Given the description of an element on the screen output the (x, y) to click on. 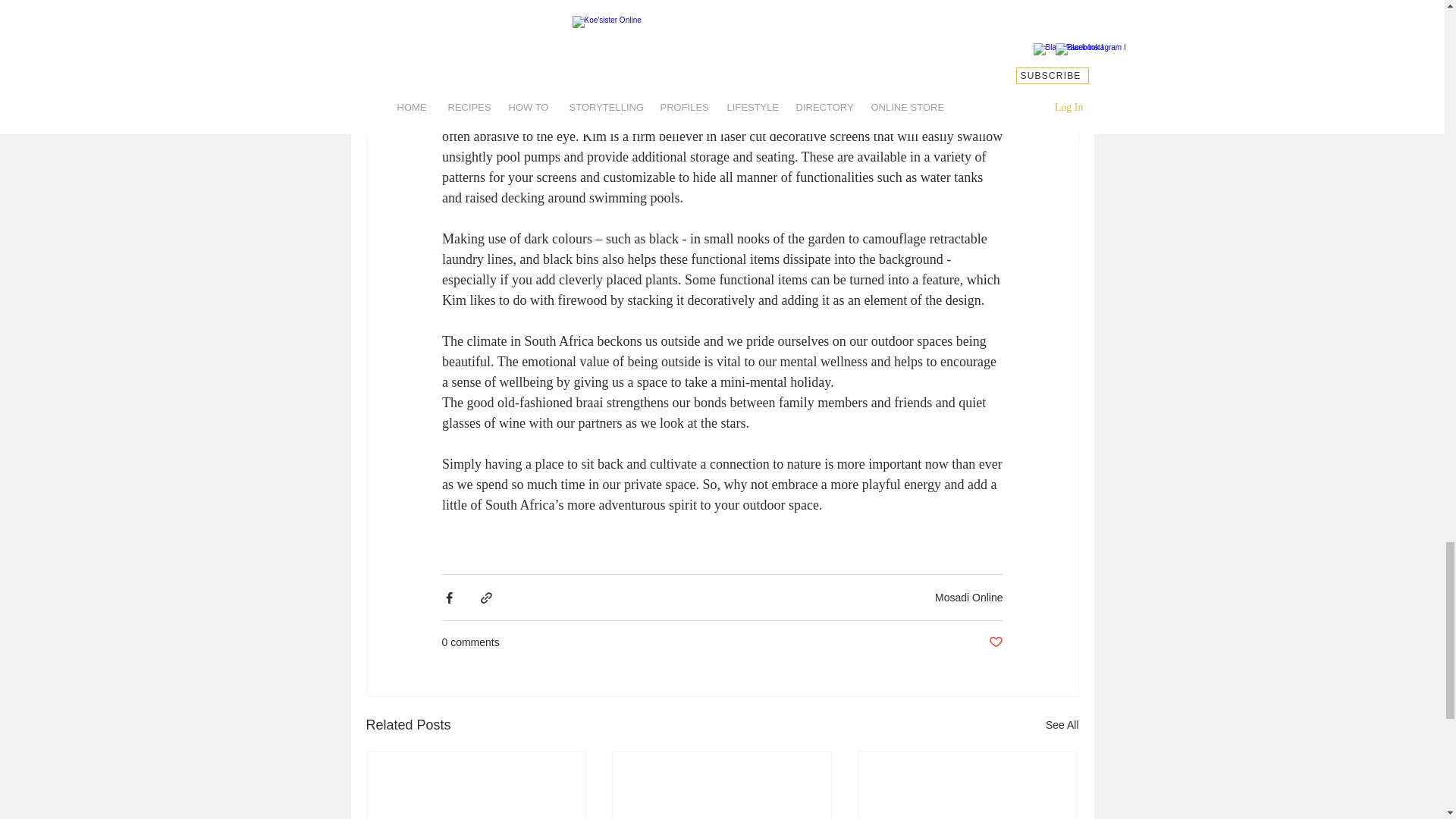
Mosadi Online (968, 597)
Post not marked as liked (995, 642)
See All (1061, 725)
